Given the description of an element on the screen output the (x, y) to click on. 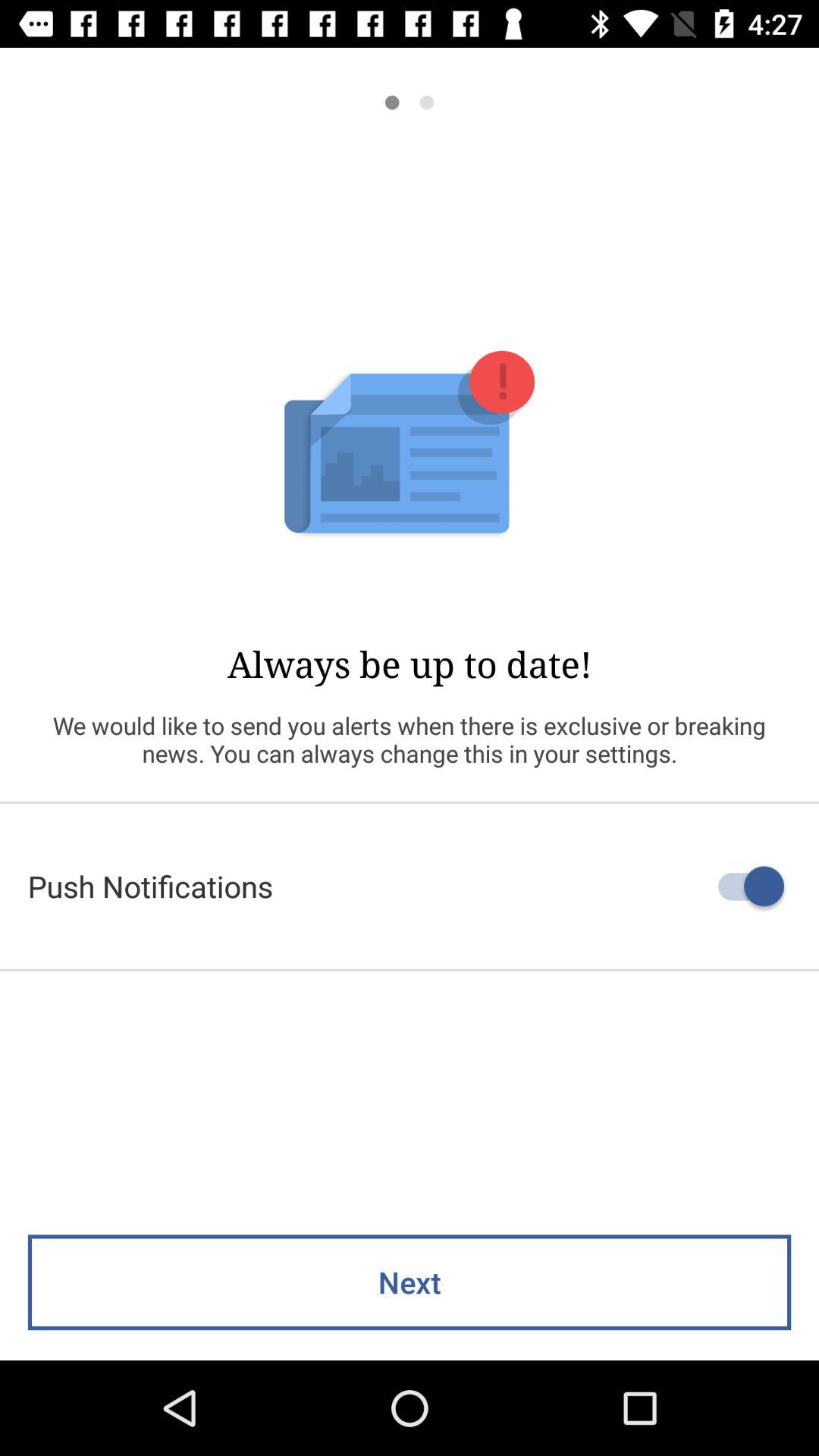
turn off push notifications (409, 886)
